Given the description of an element on the screen output the (x, y) to click on. 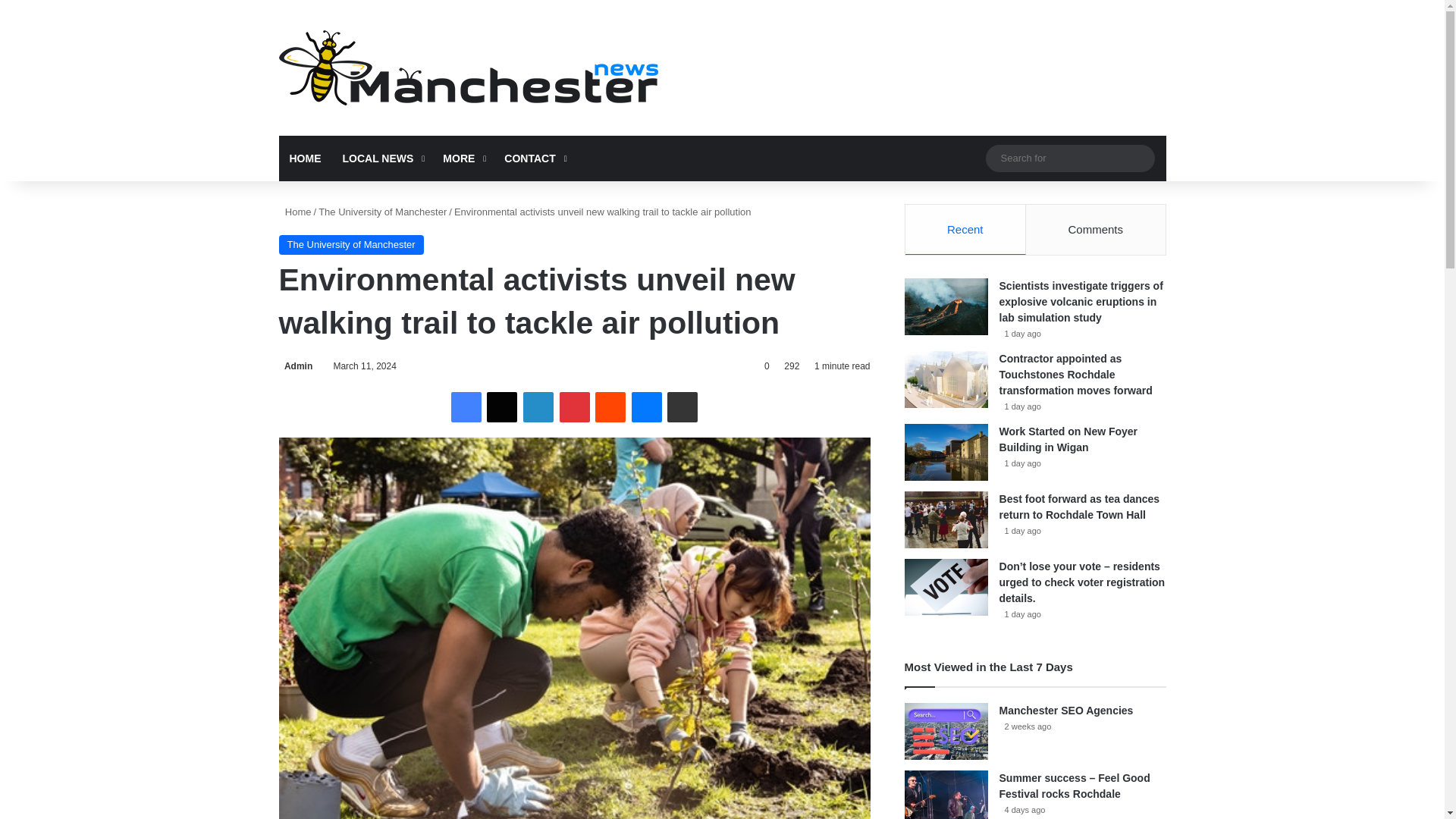
LinkedIn (537, 407)
Search for (1069, 158)
HOME (305, 157)
Facebook (466, 407)
X (501, 407)
CONTACT (533, 157)
Pinterest (574, 407)
Manchester News (468, 67)
Share via Email (681, 407)
MORE (462, 157)
